Given the description of an element on the screen output the (x, y) to click on. 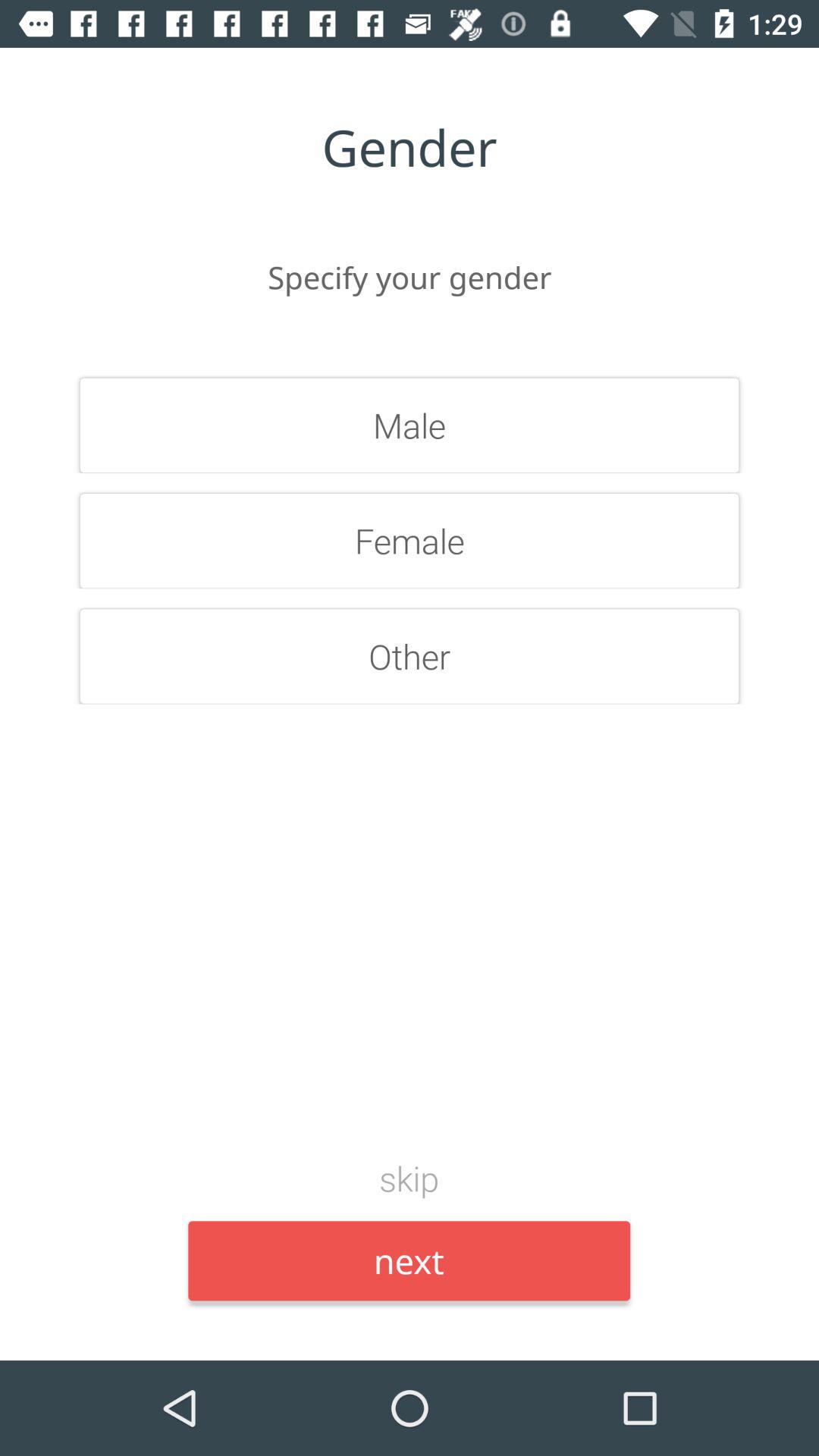
launch the item above other icon (409, 540)
